Given the description of an element on the screen output the (x, y) to click on. 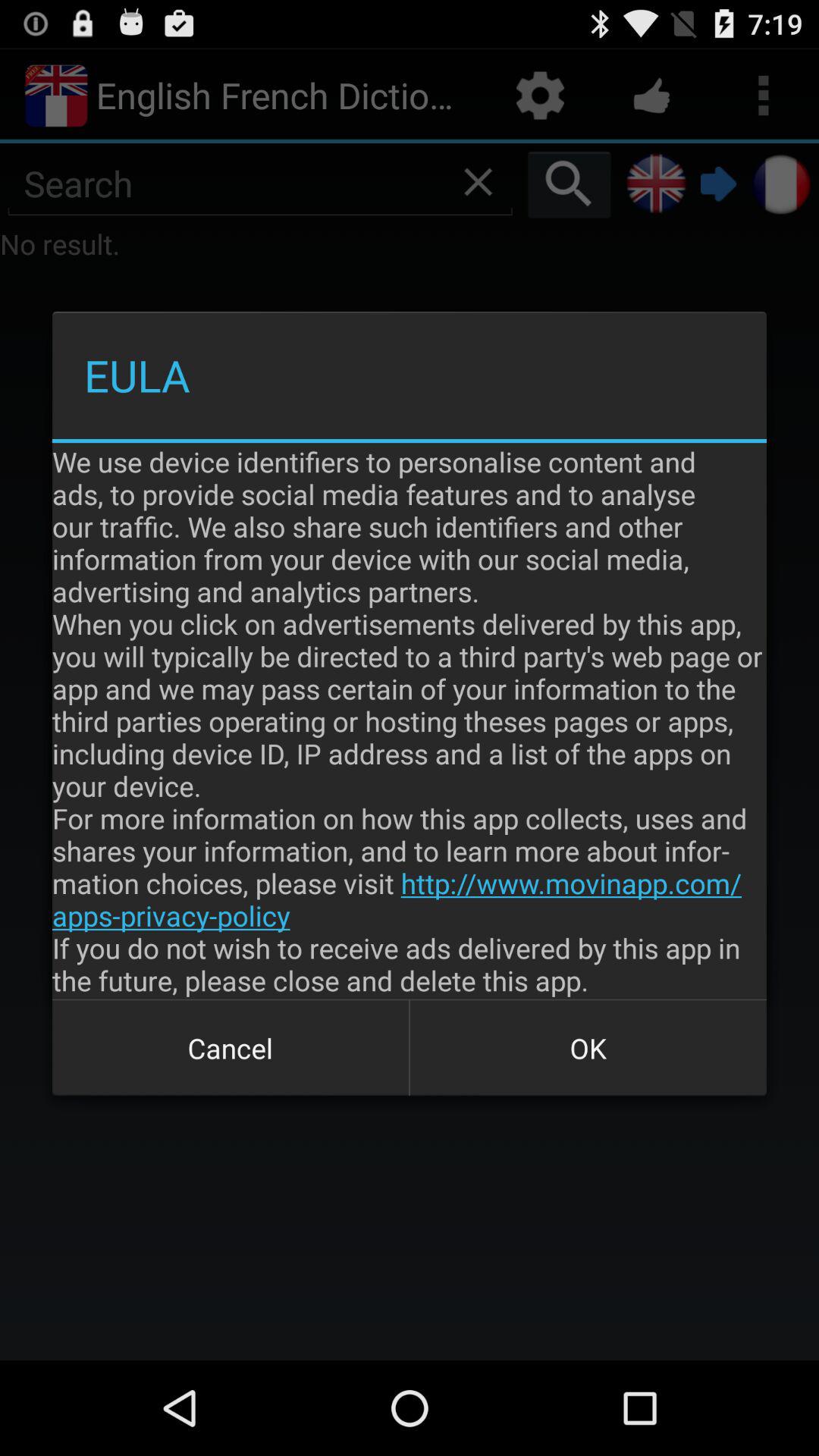
flip until the ok (588, 1047)
